Given the description of an element on the screen output the (x, y) to click on. 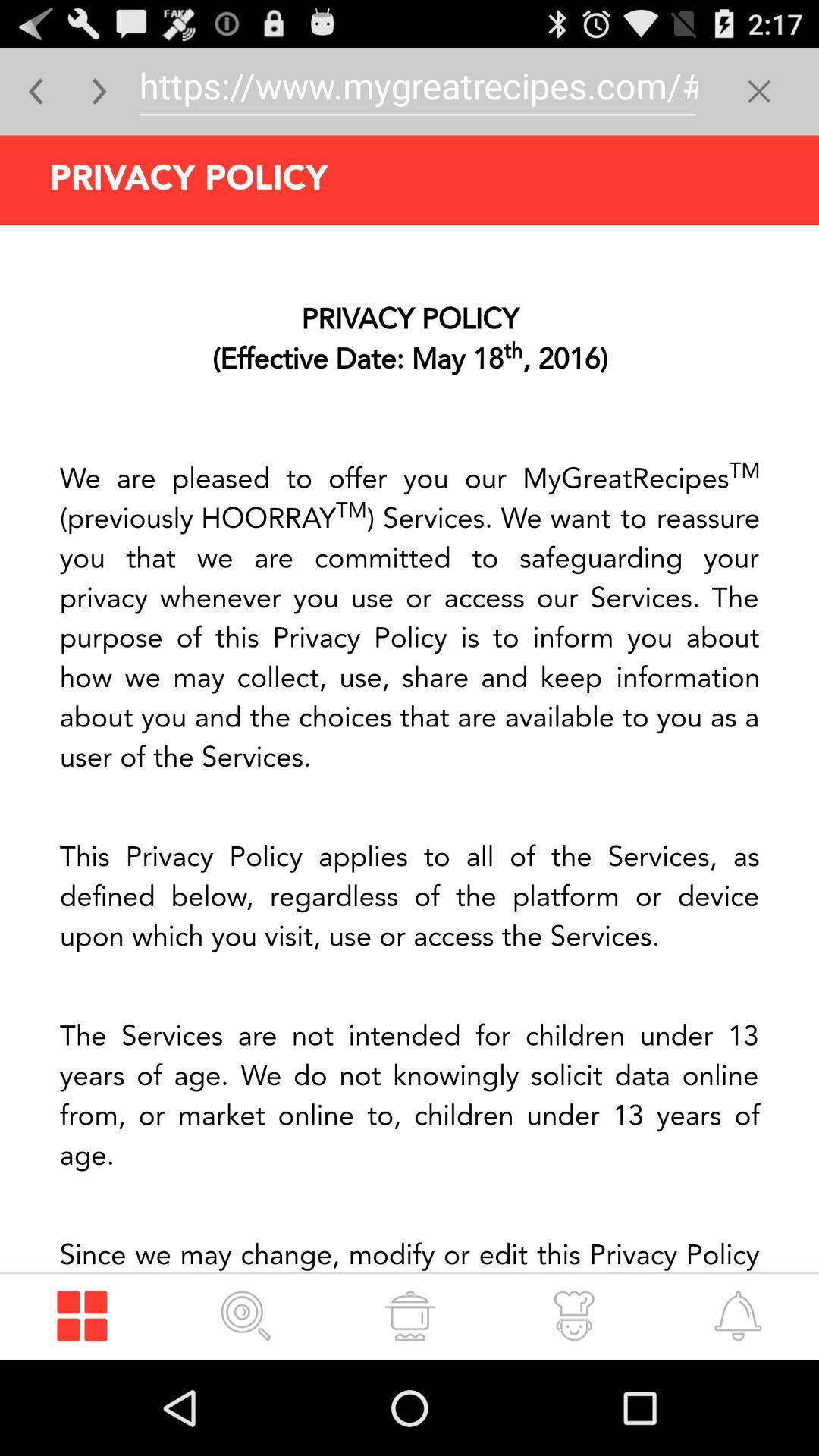
close the page (759, 91)
